Given the description of an element on the screen output the (x, y) to click on. 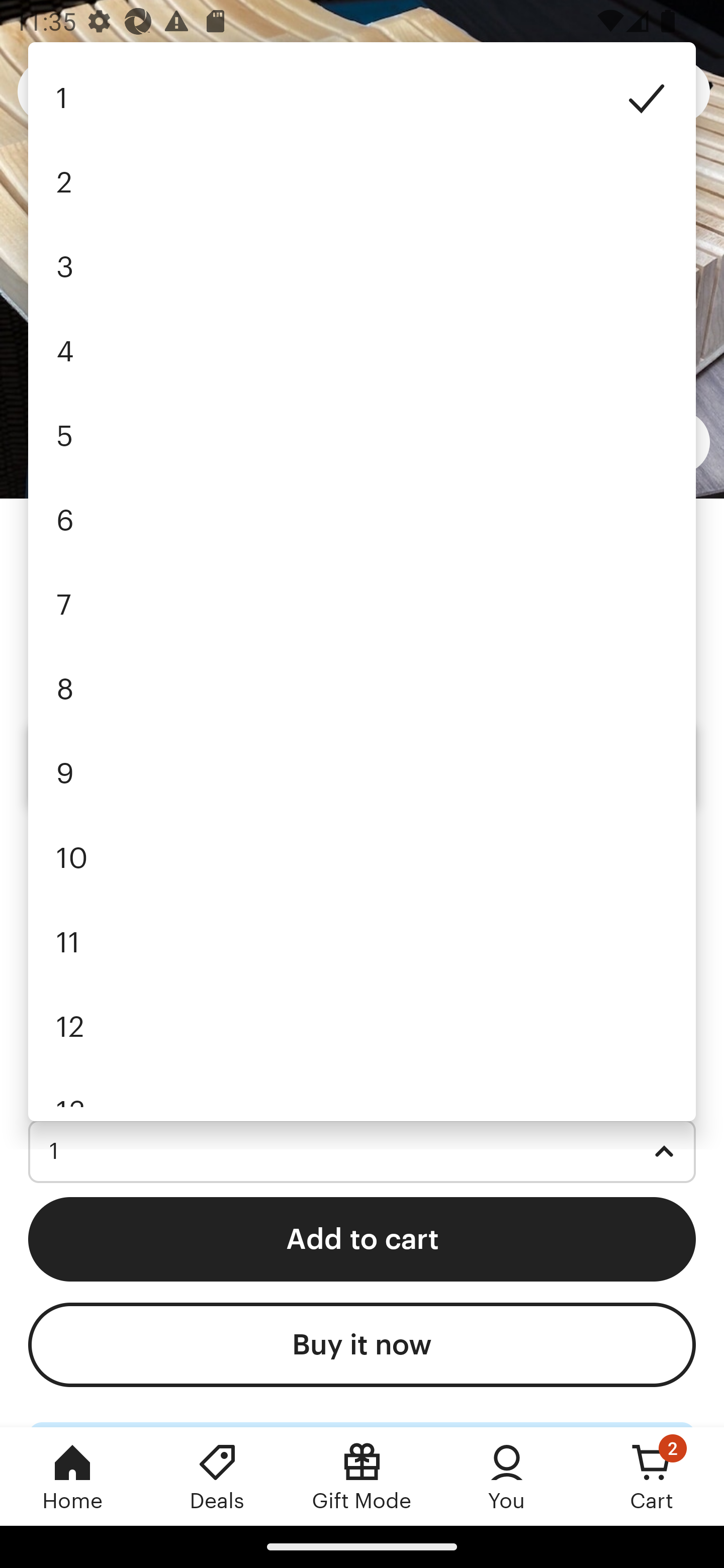
1 (361, 1150)
Add to cart (361, 1238)
Buy it now (361, 1345)
Deals (216, 1475)
Gift Mode (361, 1475)
You (506, 1475)
Cart, 2 new notifications Cart (651, 1475)
